Given the description of an element on the screen output the (x, y) to click on. 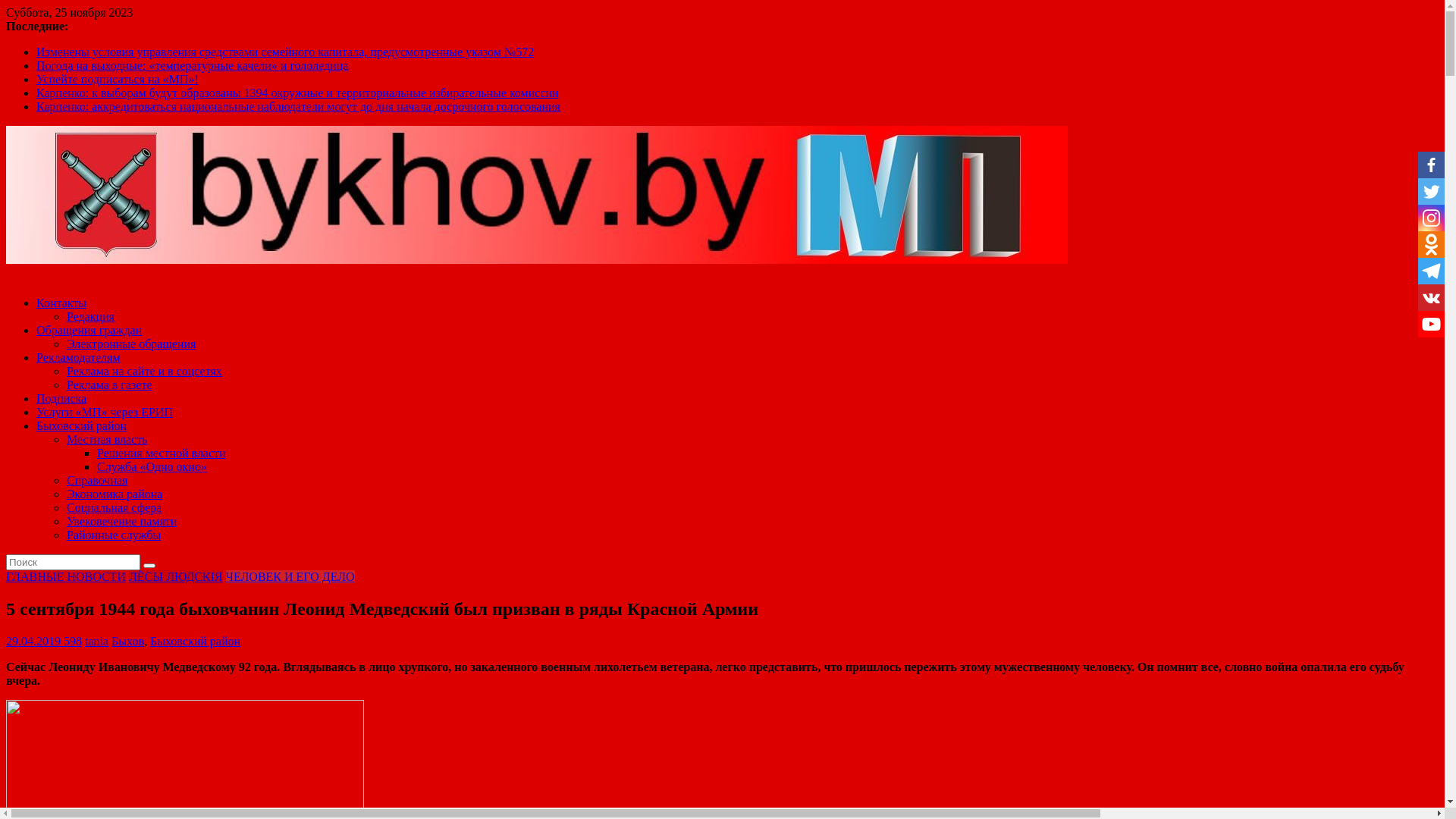
598 Element type: text (70, 640)
tania Element type: text (96, 640)
Instagram Element type: hover (1431, 217)
Youtubechannel Element type: hover (1431, 323)
29.04.2019 Element type: text (33, 640)
Facebook Element type: hover (1431, 164)
Telegram Element type: hover (1431, 270)
Vkontakte Element type: hover (1431, 297)
Twitter Element type: hover (1431, 191)
Odnoklassniki Element type: hover (1431, 244)
